Given the description of an element on the screen output the (x, y) to click on. 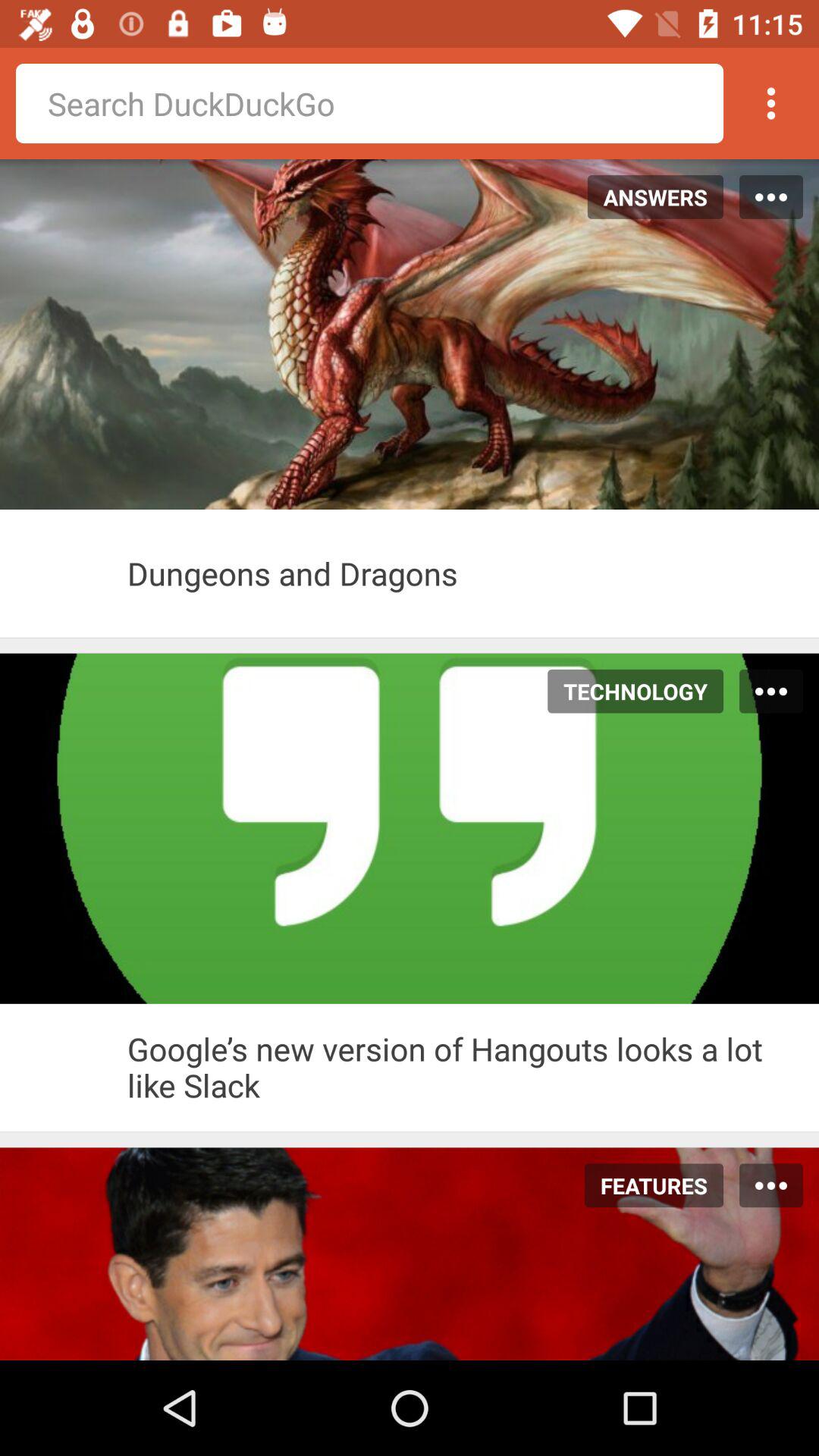
check option (63, 1067)
